Given the description of an element on the screen output the (x, y) to click on. 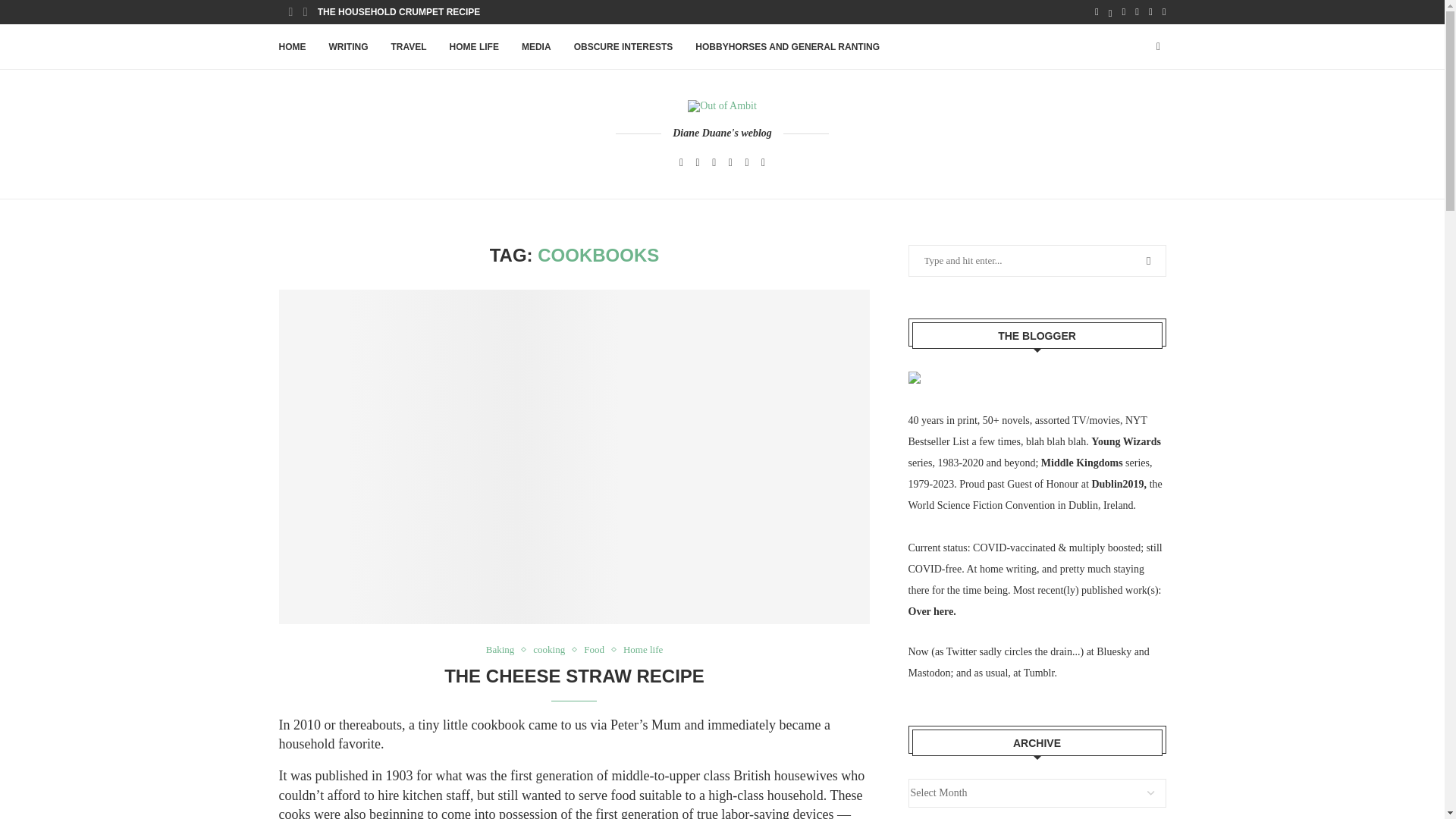
THE HOUSEHOLD CRUMPET RECIPE (398, 12)
OBSCURE INTERESTS (622, 46)
WRITING (348, 46)
HOBBYHORSES AND GENERAL RANTING (787, 46)
HOME LIFE (474, 46)
